Given the description of an element on the screen output the (x, y) to click on. 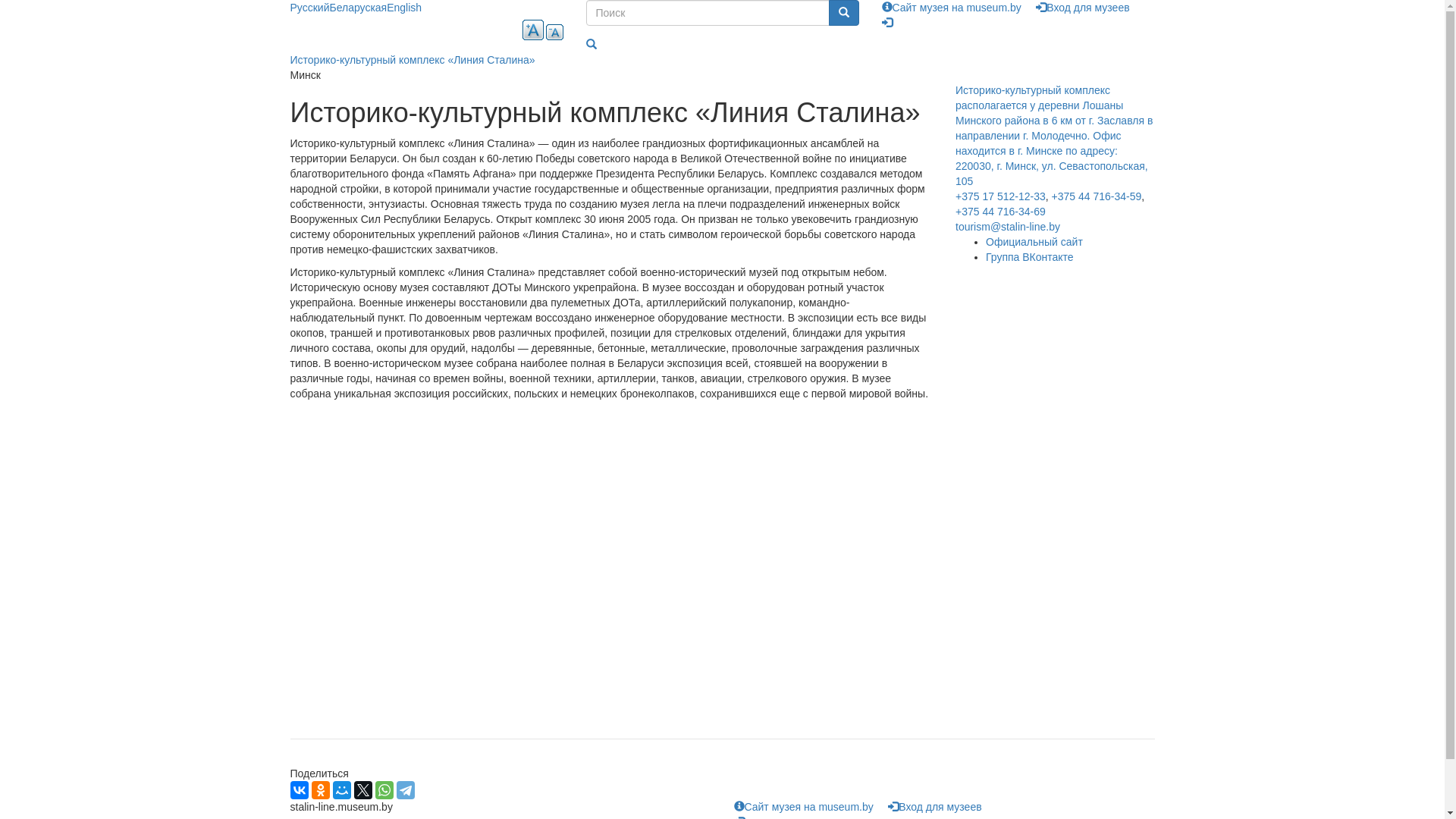
tourism@stalin-line.by Element type: text (1007, 226)
WhatsApp Element type: hover (383, 790)
Twitter Element type: hover (362, 790)
+375 44 716-34-69 Element type: text (1000, 211)
+375 17 512-12-33 Element type: text (1000, 196)
A Element type: text (554, 32)
English Element type: text (403, 7)
+375 44 716-34-59 Element type: text (1096, 196)
A Element type: text (531, 29)
Telegram Element type: hover (404, 790)
